Given the description of an element on the screen output the (x, y) to click on. 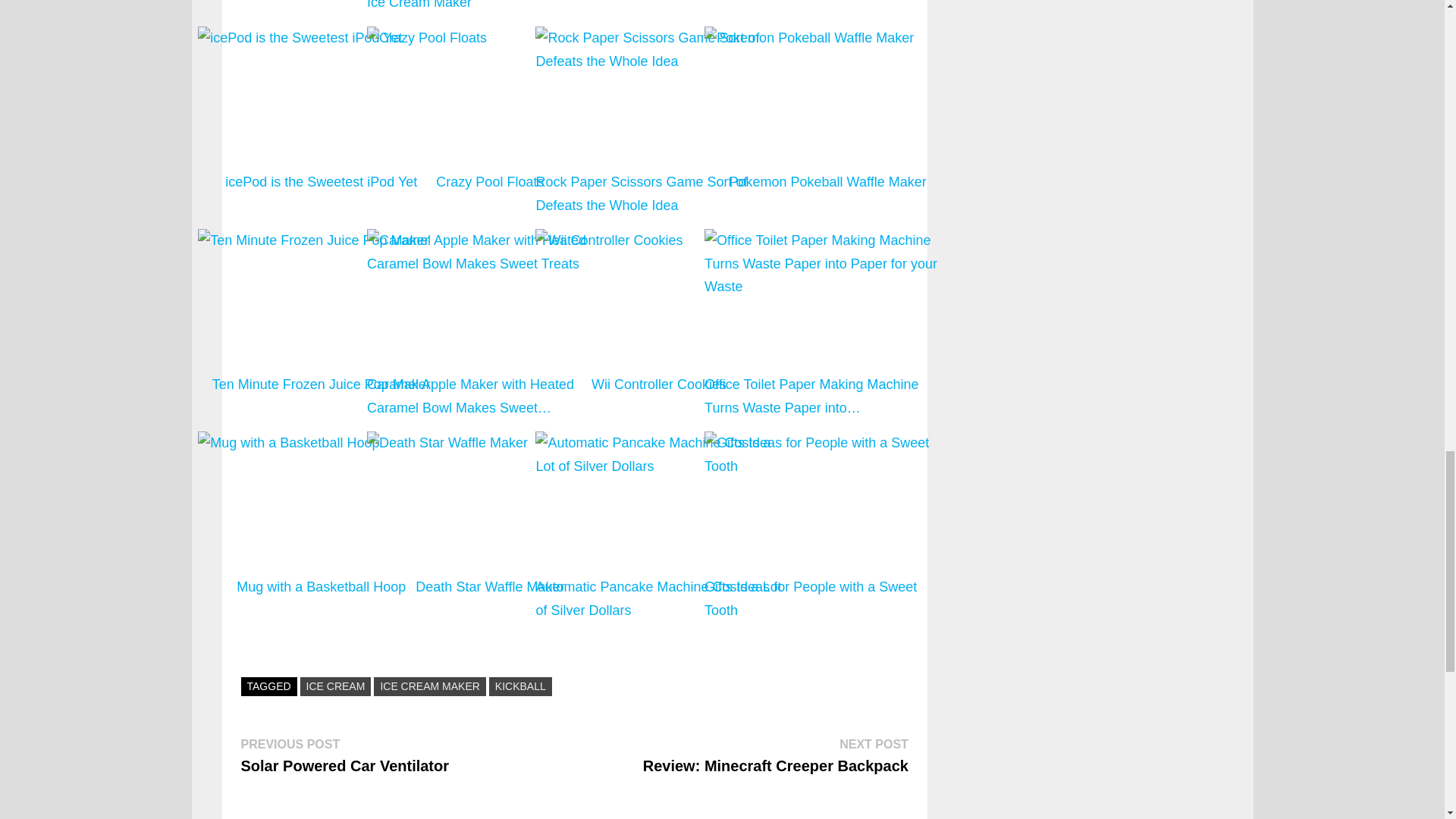
Bacon Shaving Cream (827, 8)
Automatic Pancake Machine Costs a Lot of Silver Dollars (658, 526)
icePod is the Sweetest iPod Yet (320, 121)
Double Goodness with the Two Flavor Ice Cream Maker (490, 8)
Rock Paper Scissors Game Sort of Defeats the Whole Idea (658, 49)
icePod is the Sweetest iPod Yet (321, 37)
Crazy Pool Floats (490, 121)
Coin Operated Ice Cream Claw Game (658, 8)
Crazy Pool Floats (489, 89)
Pokemon Pokeball Waffle Maker (827, 158)
Ten Minute Frozen Juice Pop Maker (321, 240)
ICE CREAM (335, 686)
Gifts Ideas for People with a Sweet Tooth (827, 526)
Rock Paper Scissors Game Sort of Defeats the Whole Idea (658, 121)
Pokemon Pokeball Waffle Maker (827, 121)
